Given the description of an element on the screen output the (x, y) to click on. 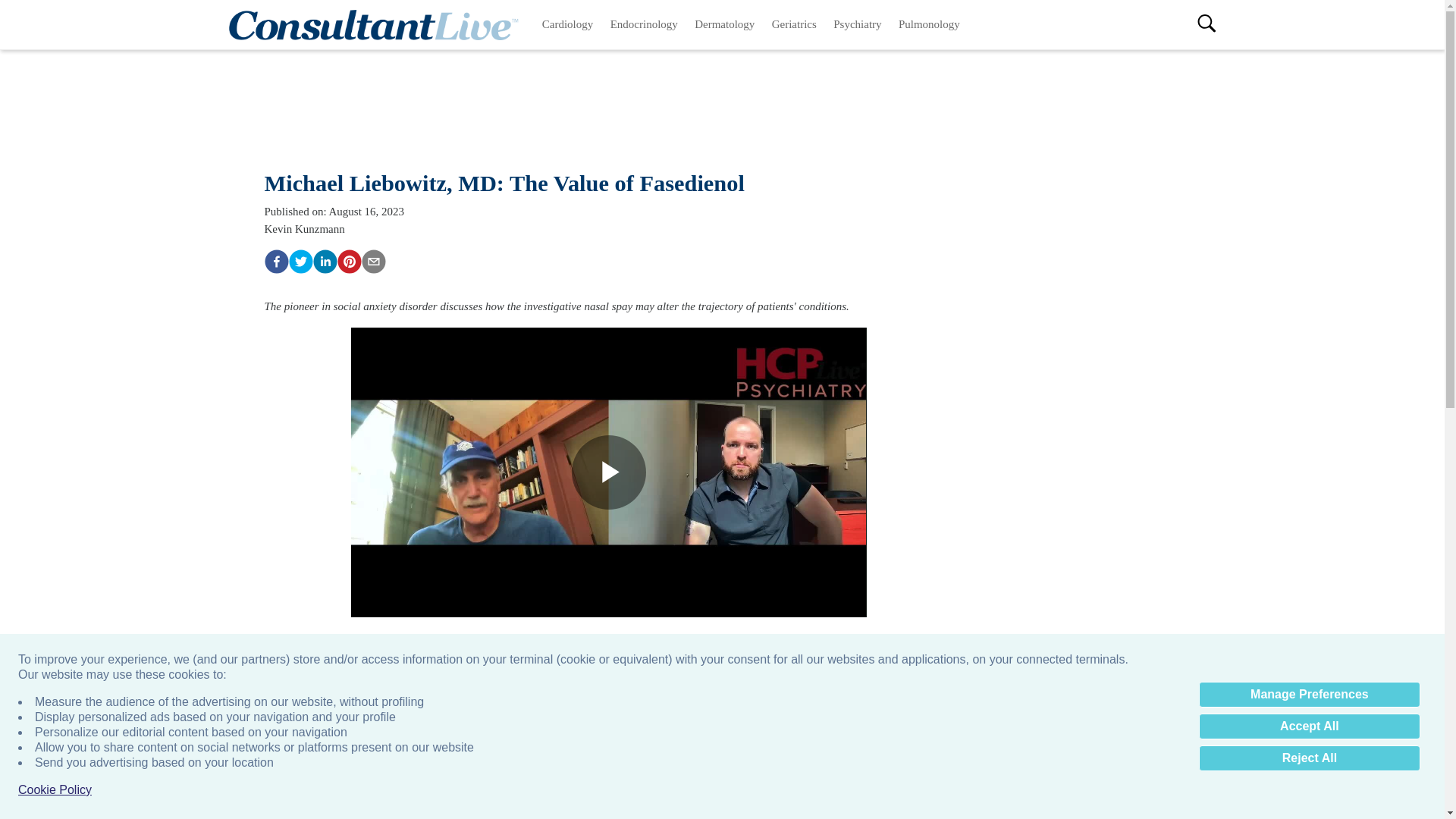
Dermatology (725, 24)
Endocrinology (644, 24)
Geriatrics (793, 24)
Pulmonology (928, 24)
Manage Preferences (1309, 694)
Accept All (1309, 726)
Kevin Kunzmann (303, 228)
Psychiatry (858, 24)
Cardiology (568, 24)
Play Video (609, 471)
Reject All (1309, 758)
Play Video (609, 471)
Cookie Policy (54, 789)
